Given the description of an element on the screen output the (x, y) to click on. 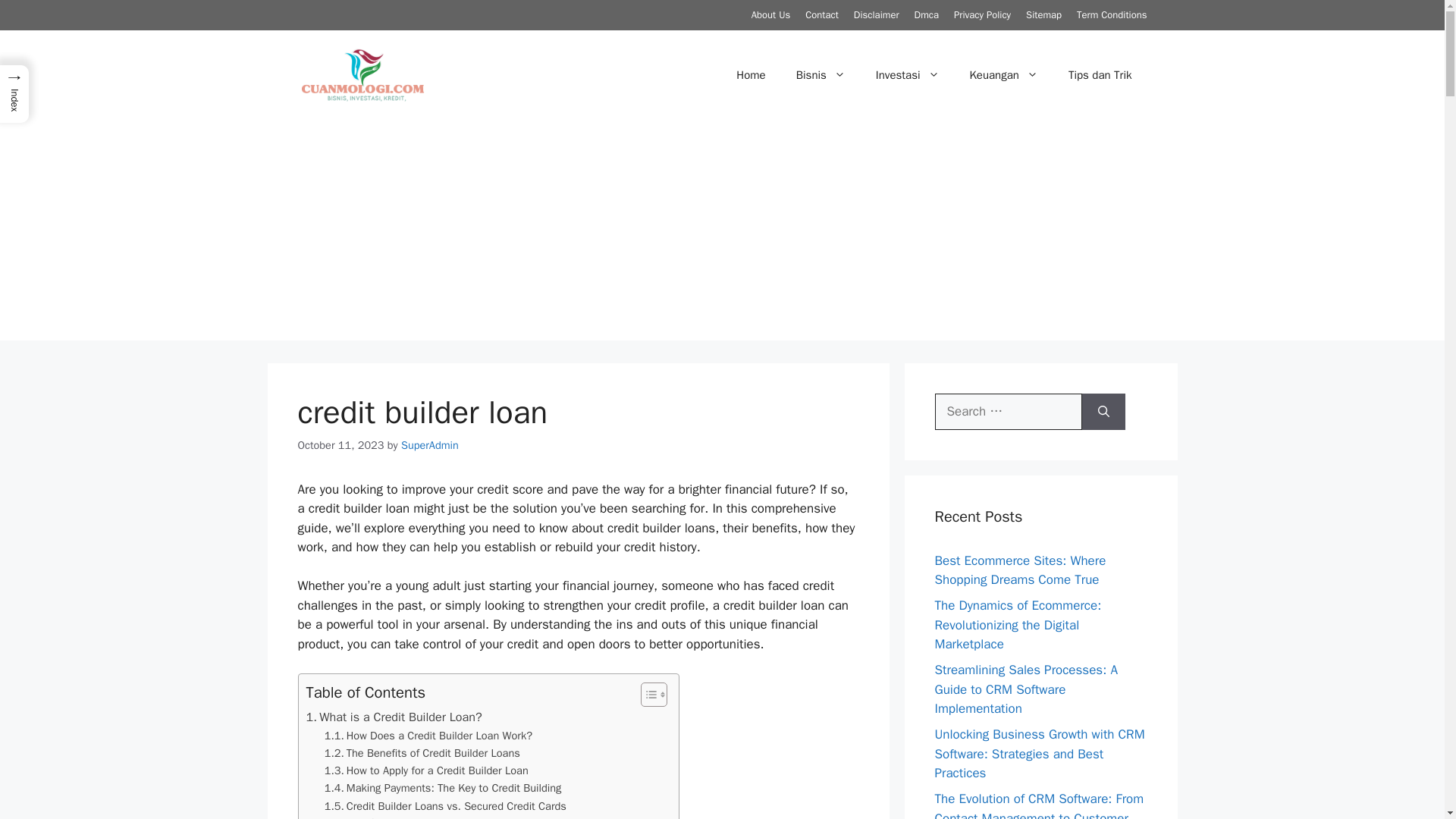
Tips dan Trik (1099, 74)
The Benefits of Credit Builder Loans (421, 753)
Making Payments: The Key to Credit Building (443, 787)
How Does a Credit Builder Loan Work? (428, 735)
Home (750, 74)
Making Payments: The Key to Credit Building (443, 787)
View all posts by SuperAdmin (429, 445)
Disclaimer (876, 14)
Dmca (926, 14)
How to Apply for a Credit Builder Loan (426, 770)
